Given the description of an element on the screen output the (x, y) to click on. 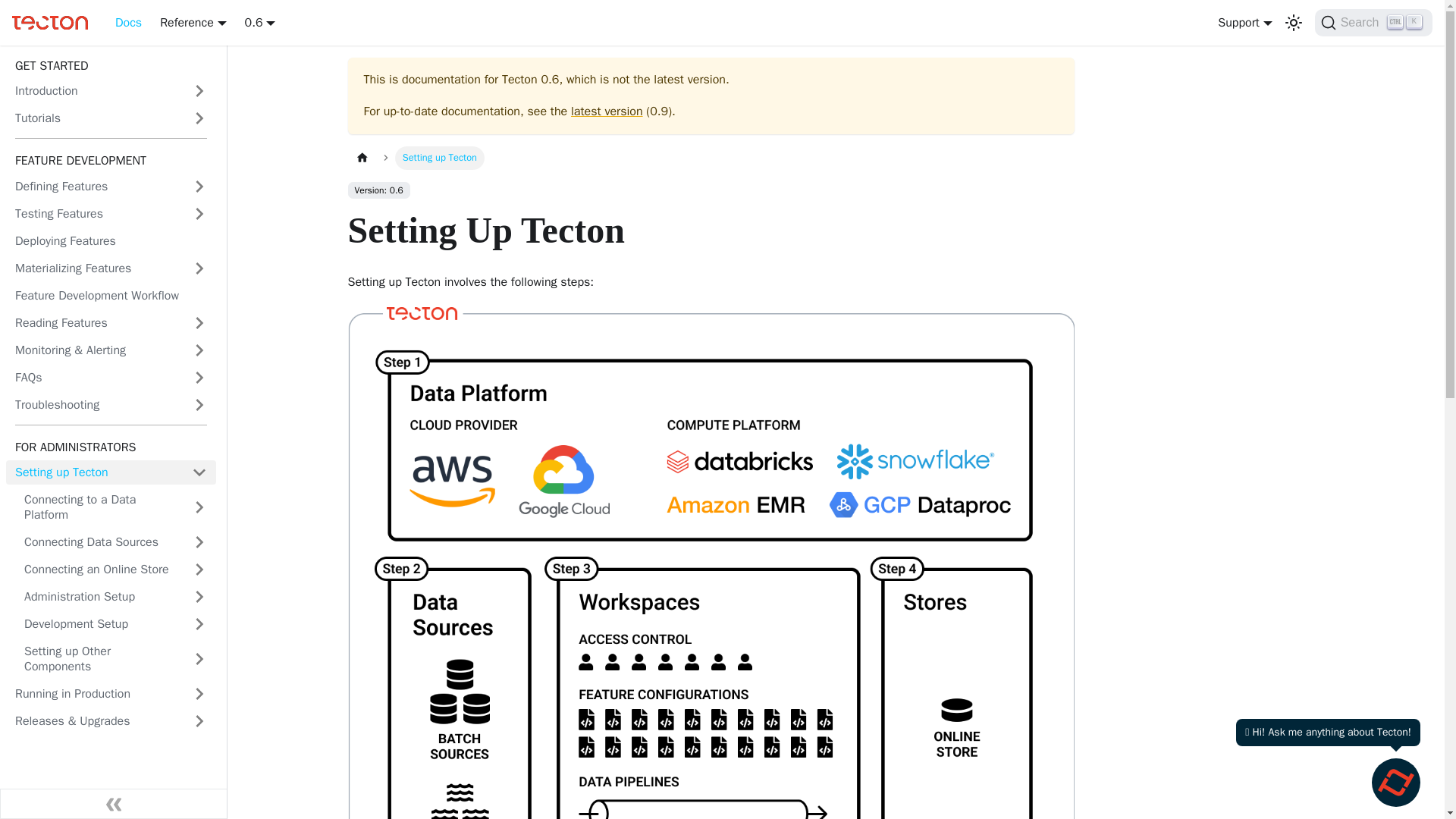
Deploying Features (110, 241)
Feature Development Workflow (110, 295)
Materializing Features (94, 268)
Reference (192, 22)
Support (1244, 22)
Reading Features (94, 322)
Testing Features (94, 213)
Defining Features (94, 186)
Docs (128, 22)
Collapse sidebar (113, 803)
Tutorials (94, 118)
Introduction (1373, 22)
0.6 (94, 90)
